Given the description of an element on the screen output the (x, y) to click on. 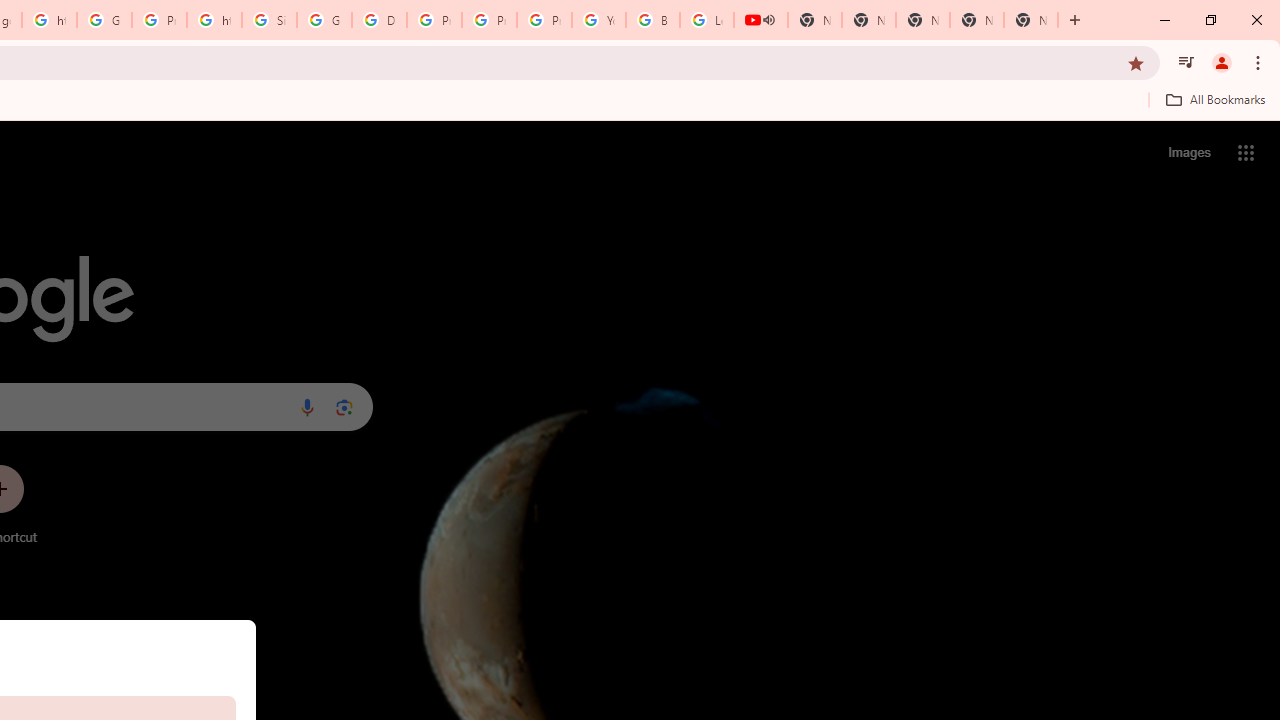
Sign in - Google Accounts (268, 20)
New Tab (1030, 20)
Privacy Help Center - Policies Help (434, 20)
https://scholar.google.com/ (213, 20)
